Given the description of an element on the screen output the (x, y) to click on. 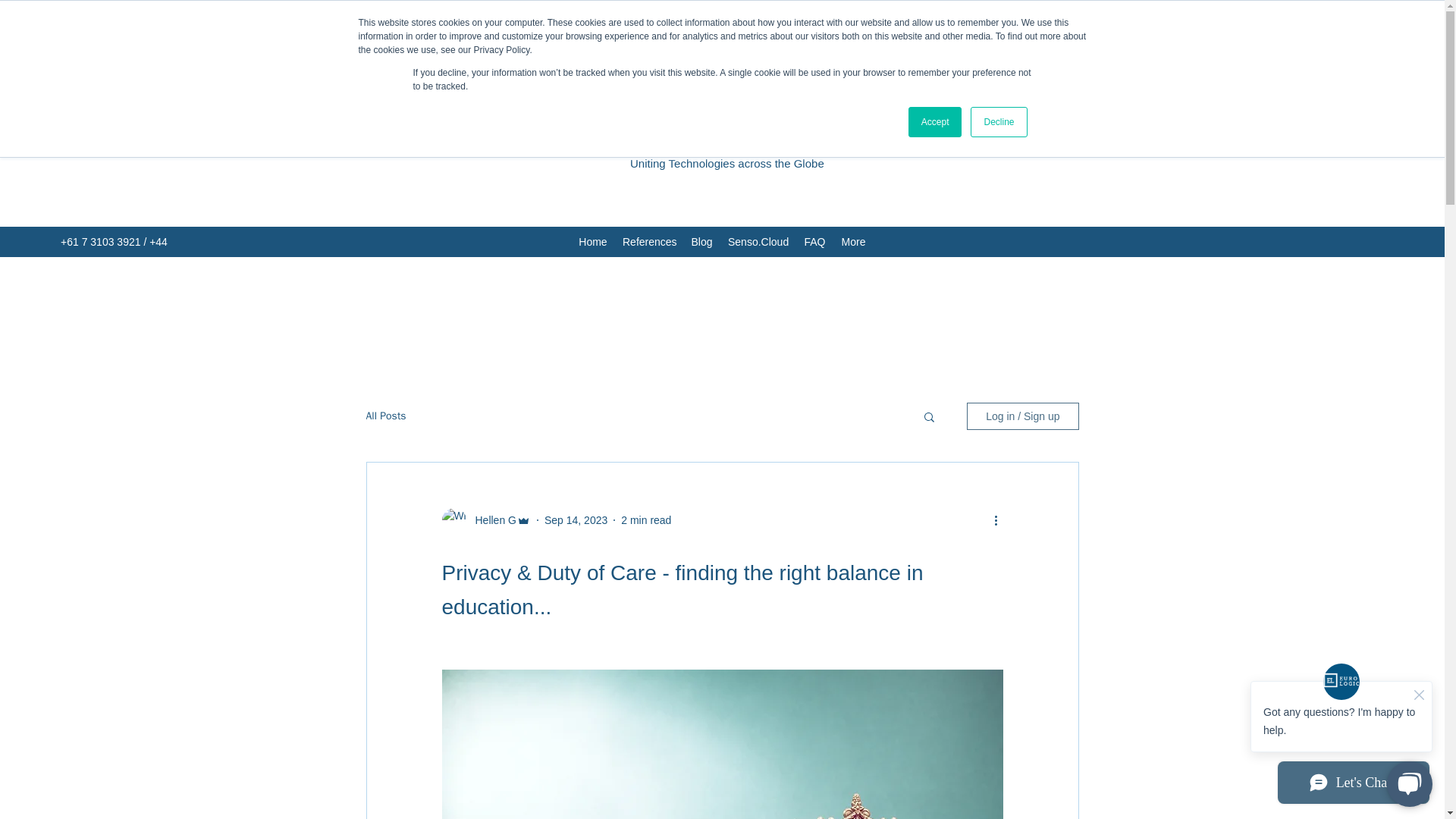
Sep 14, 2023 (575, 520)
2 min read (646, 520)
Hellen G (490, 520)
Home (592, 241)
References (648, 241)
FAQ (814, 241)
Blog (701, 241)
Decline (998, 122)
Accept (935, 122)
All Posts (385, 416)
Senso.Cloud (758, 241)
EUROLOGIC SOFTWARE (726, 130)
